Given the description of an element on the screen output the (x, y) to click on. 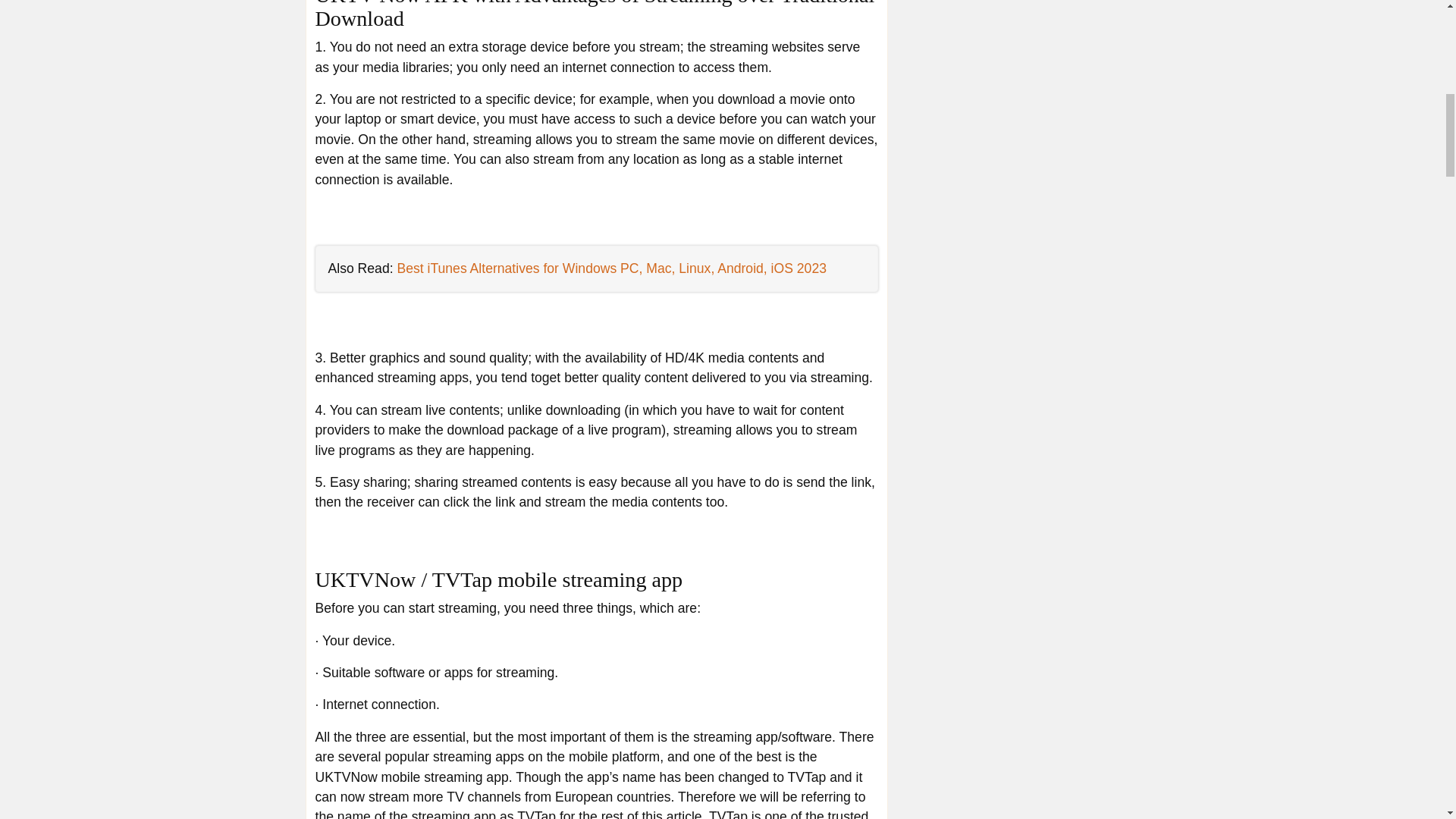
Advertisement (1024, 49)
